Given the description of an element on the screen output the (x, y) to click on. 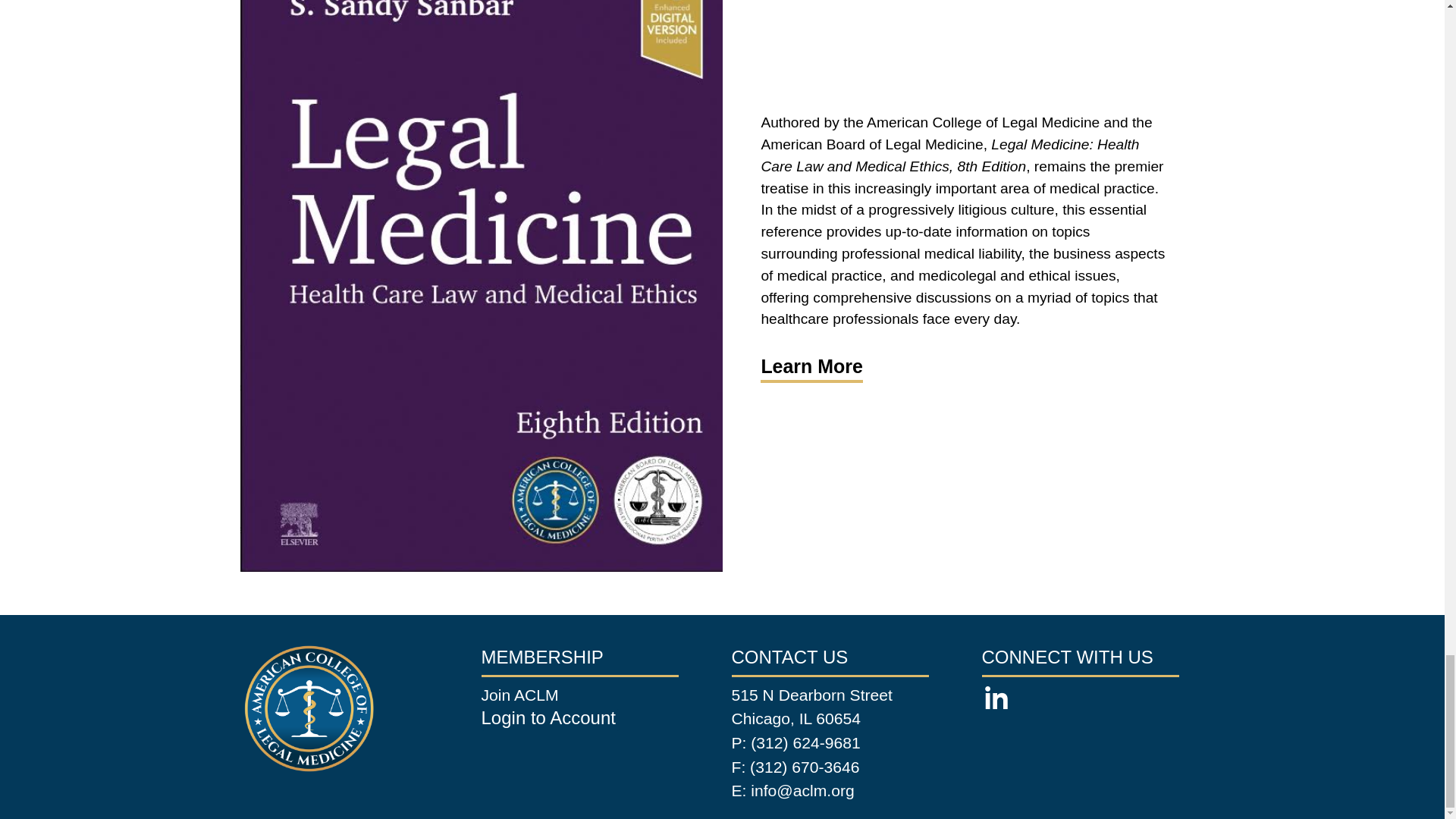
Join ACLM (518, 694)
Login to Account (549, 720)
Login to Account (549, 720)
Learn More (811, 365)
Login to Account (549, 720)
